Given the description of an element on the screen output the (x, y) to click on. 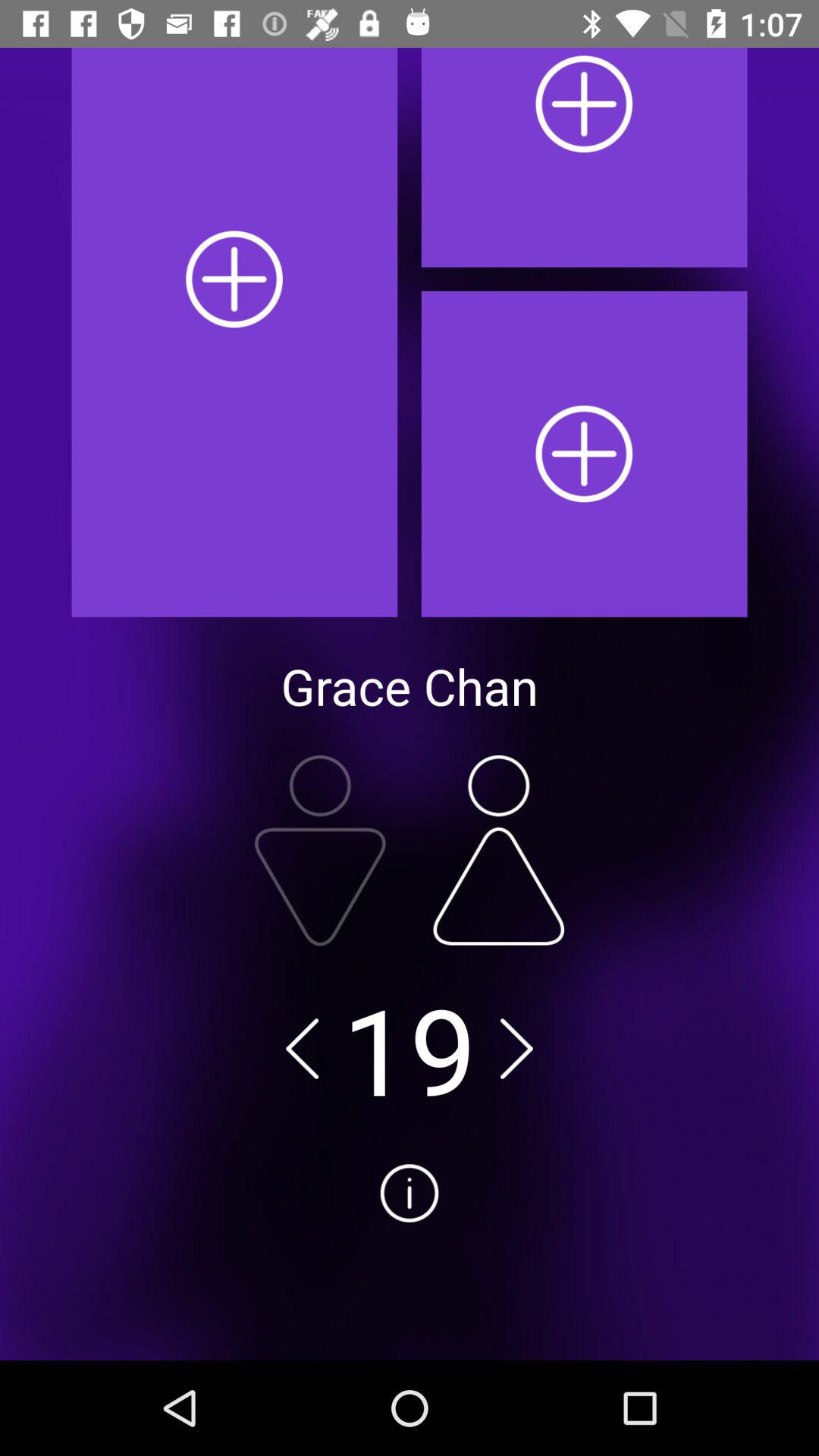
go up (498, 850)
